Given the description of an element on the screen output the (x, y) to click on. 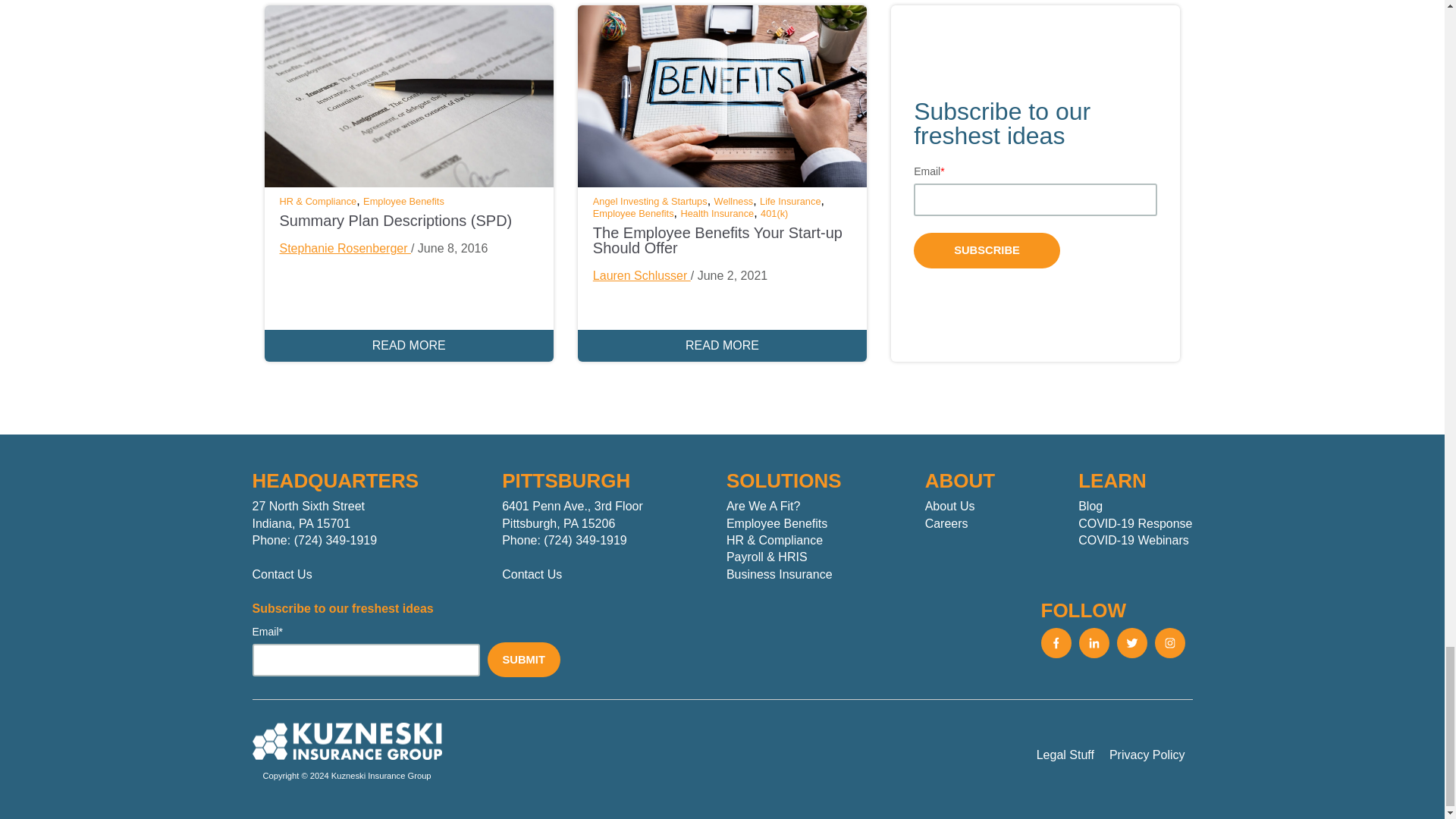
Kuzneski Logo (346, 741)
Submit (522, 659)
Subscribe (986, 249)
